Given the description of an element on the screen output the (x, y) to click on. 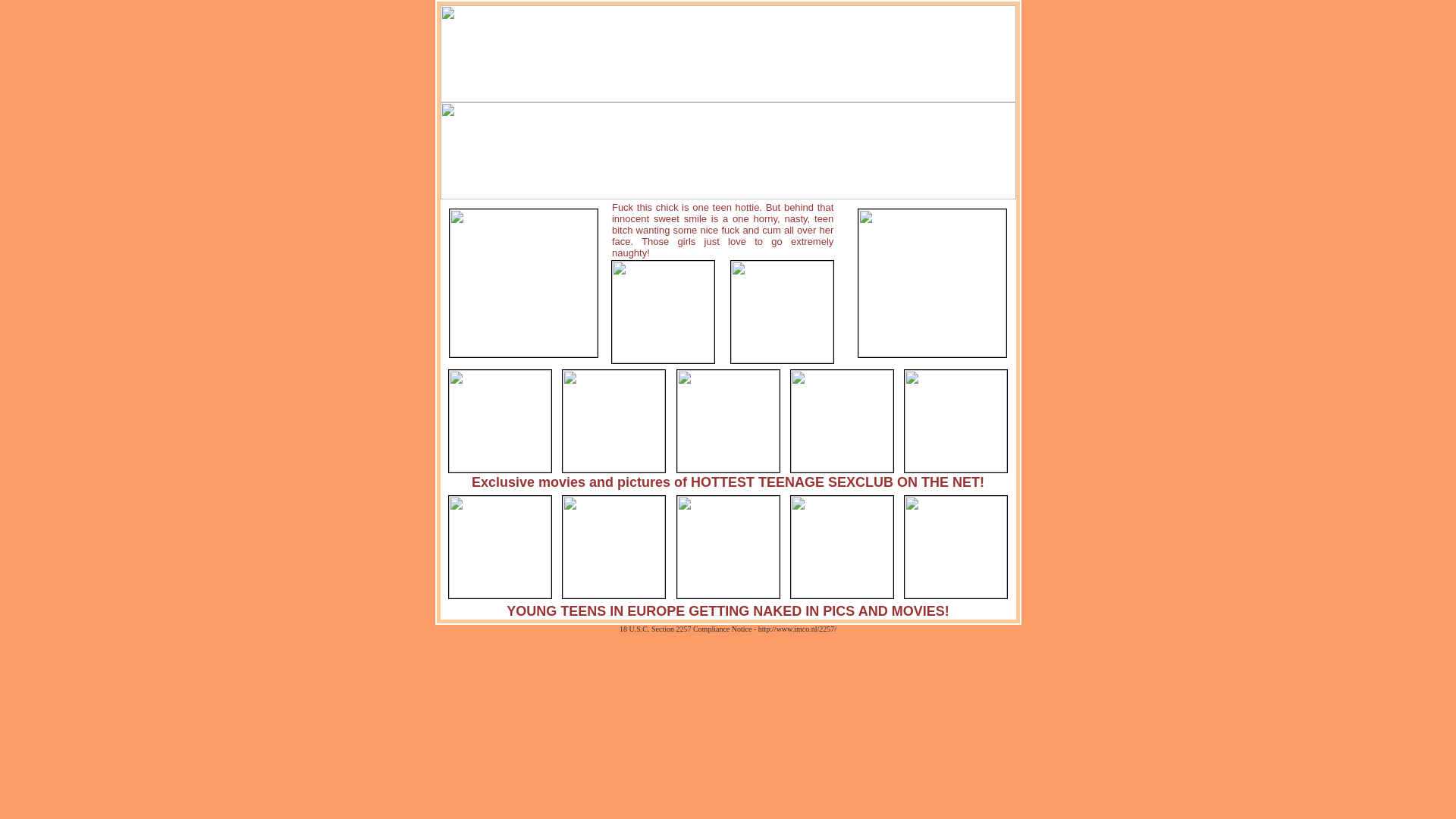
YOUNG TEENS IN EUROPE GETTING NAKED IN PICS AND MOVIES! (727, 611)
